Given the description of an element on the screen output the (x, y) to click on. 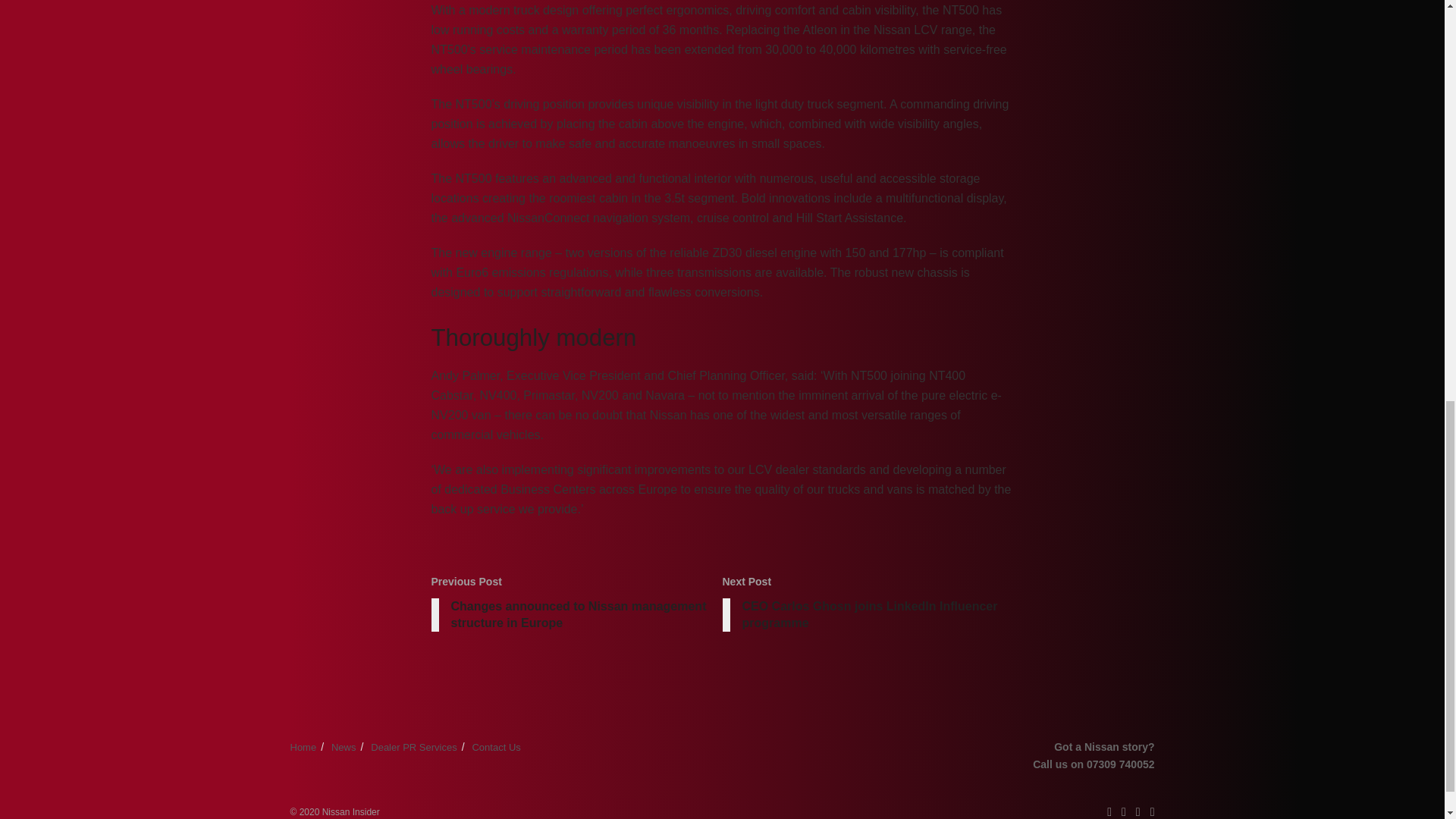
Dealer PR Services (414, 747)
Contact Us (495, 747)
News (343, 747)
Home (302, 747)
